Given the description of an element on the screen output the (x, y) to click on. 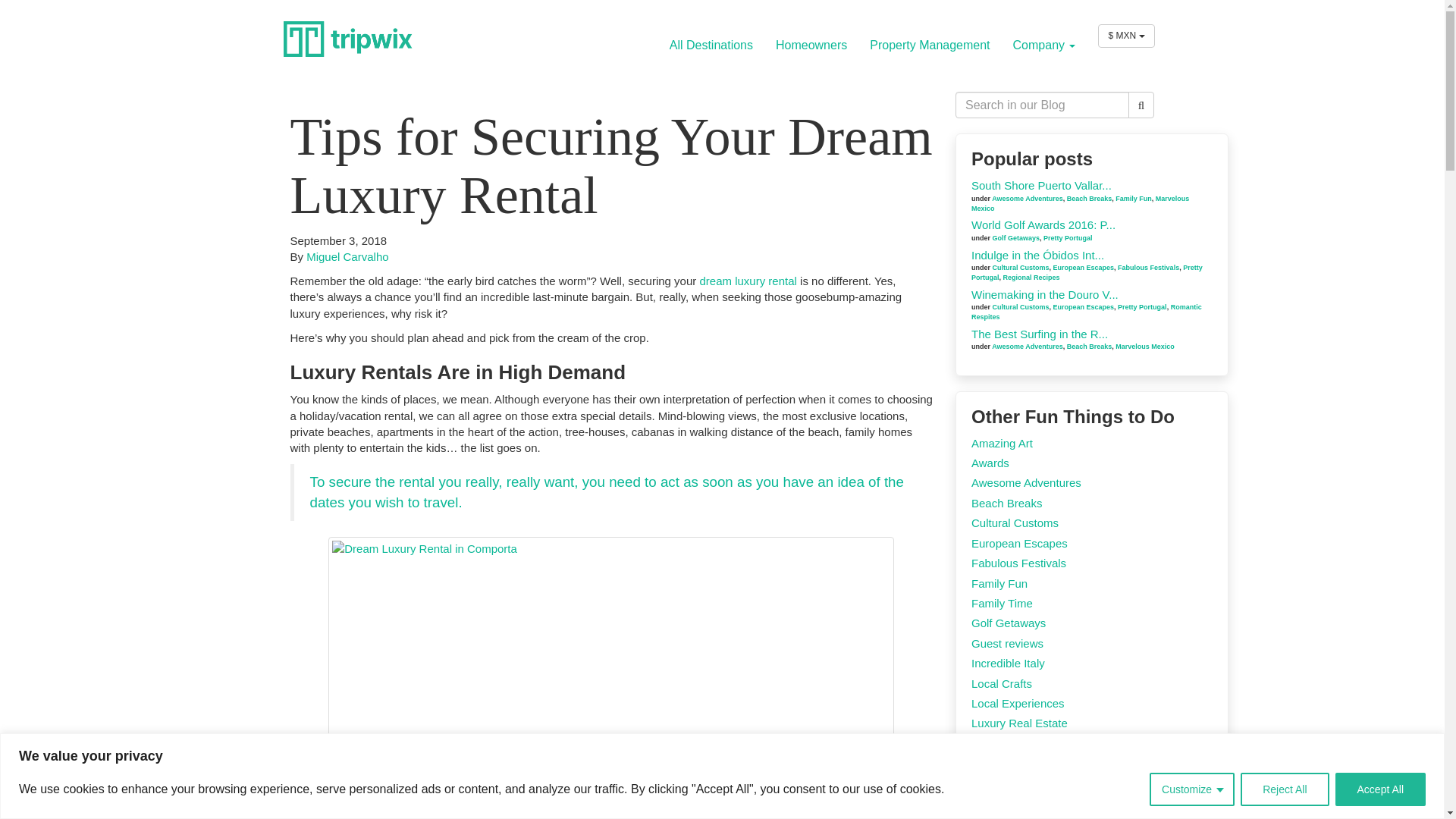
Homeowners (811, 45)
Property Management (930, 45)
Customize (1192, 788)
All Destinations (711, 45)
Company (1044, 45)
Company (1044, 45)
Accept All (1380, 788)
South Shore Puerto Vallarta Beaches (1041, 185)
dream luxury rental (747, 280)
Property Management (930, 45)
Miguel Carvalho (346, 256)
All Destinations (711, 45)
Reject All (1283, 788)
